Given the description of an element on the screen output the (x, y) to click on. 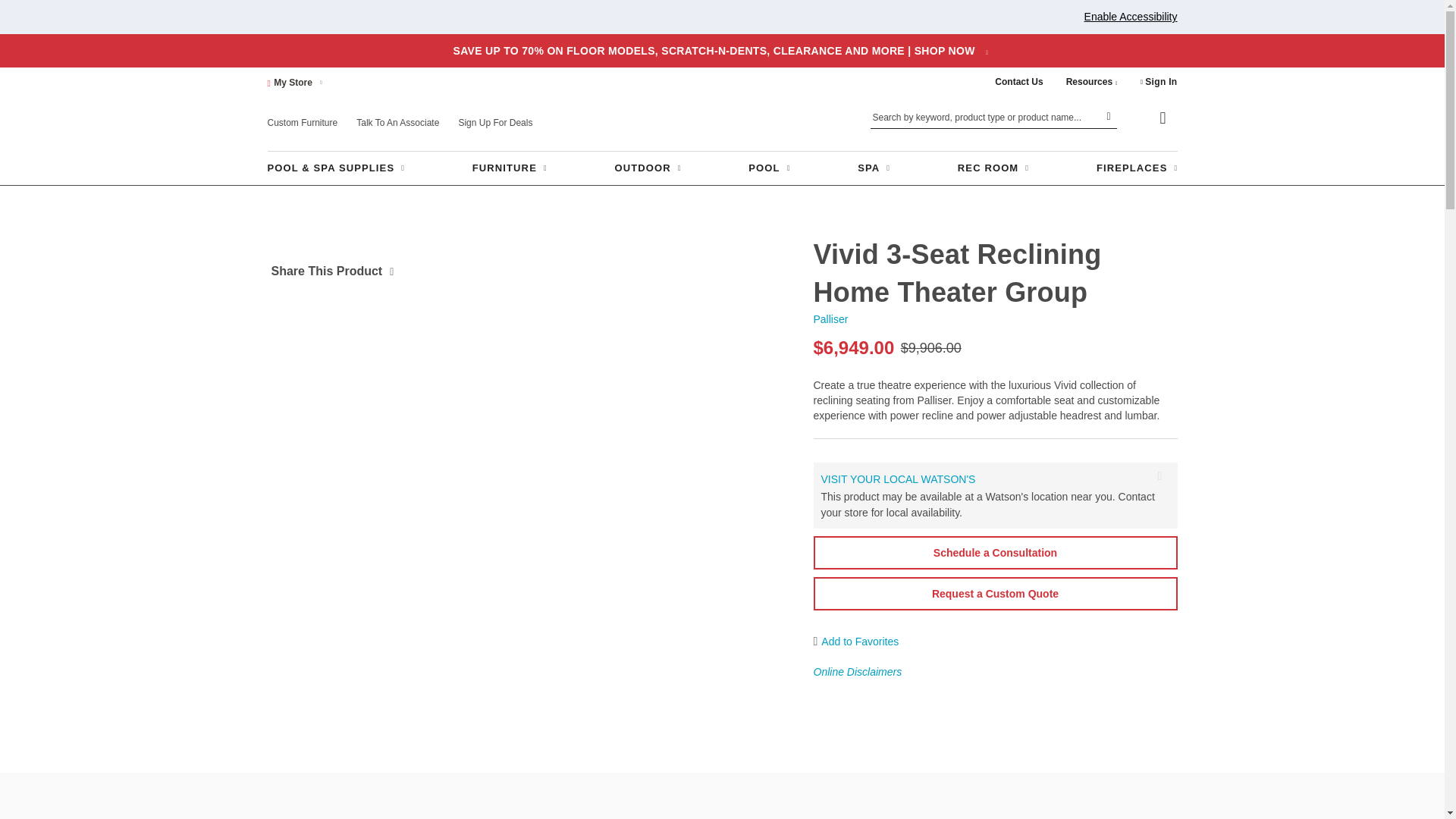
Contact Us (1018, 81)
Watson's (722, 132)
Sign In (1158, 81)
Resources (1091, 81)
Enable Accessibility (1130, 16)
Watson's (725, 120)
